Given the description of an element on the screen output the (x, y) to click on. 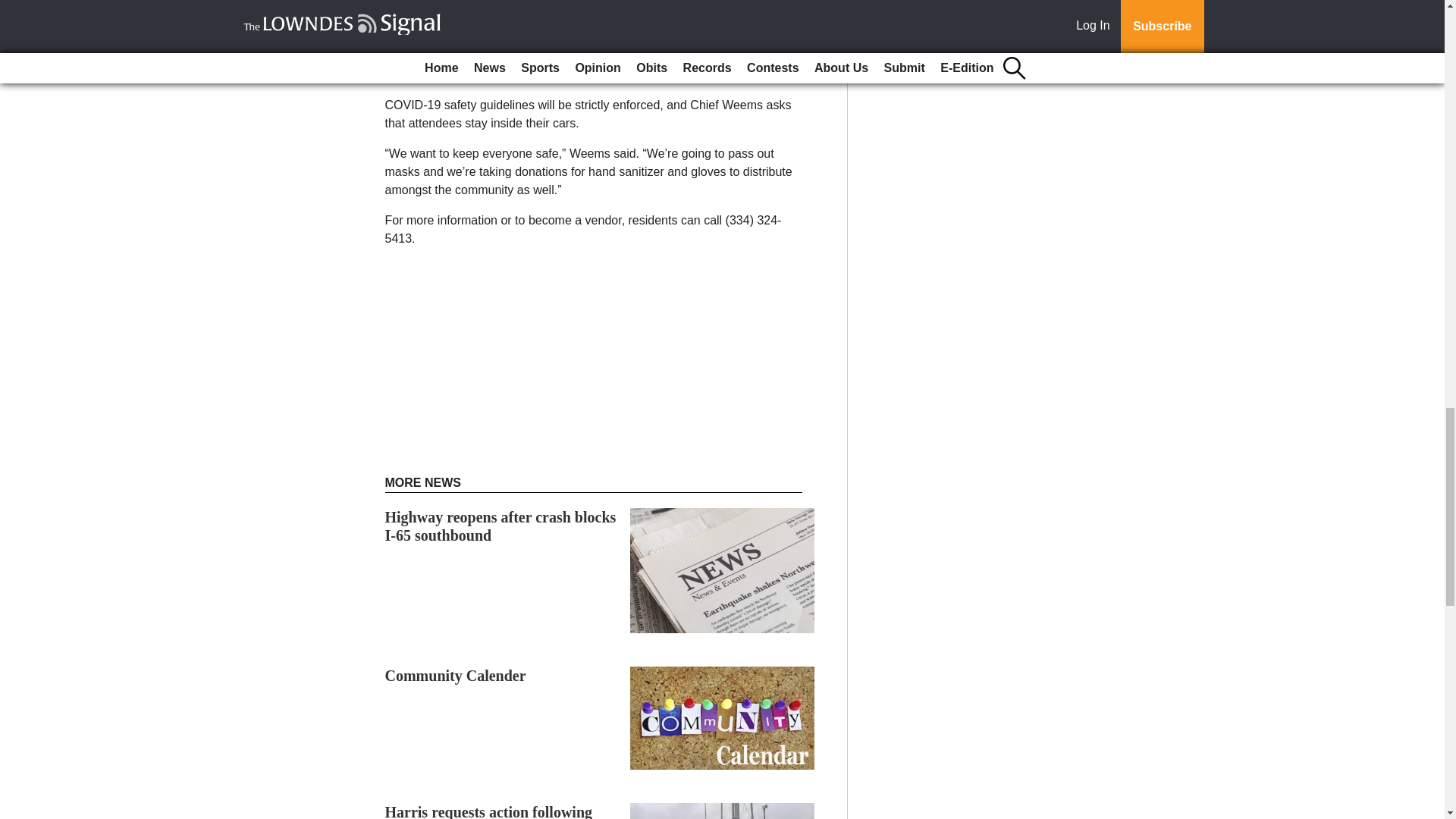
Harris requests action following heated meeting exchange (488, 811)
Harris requests action following heated meeting exchange (488, 811)
Community Calender (455, 675)
Community Calender (455, 675)
Highway reopens after crash blocks I-65 southbound (500, 525)
Highway reopens after crash blocks I-65 southbound (500, 525)
